Given the description of an element on the screen output the (x, y) to click on. 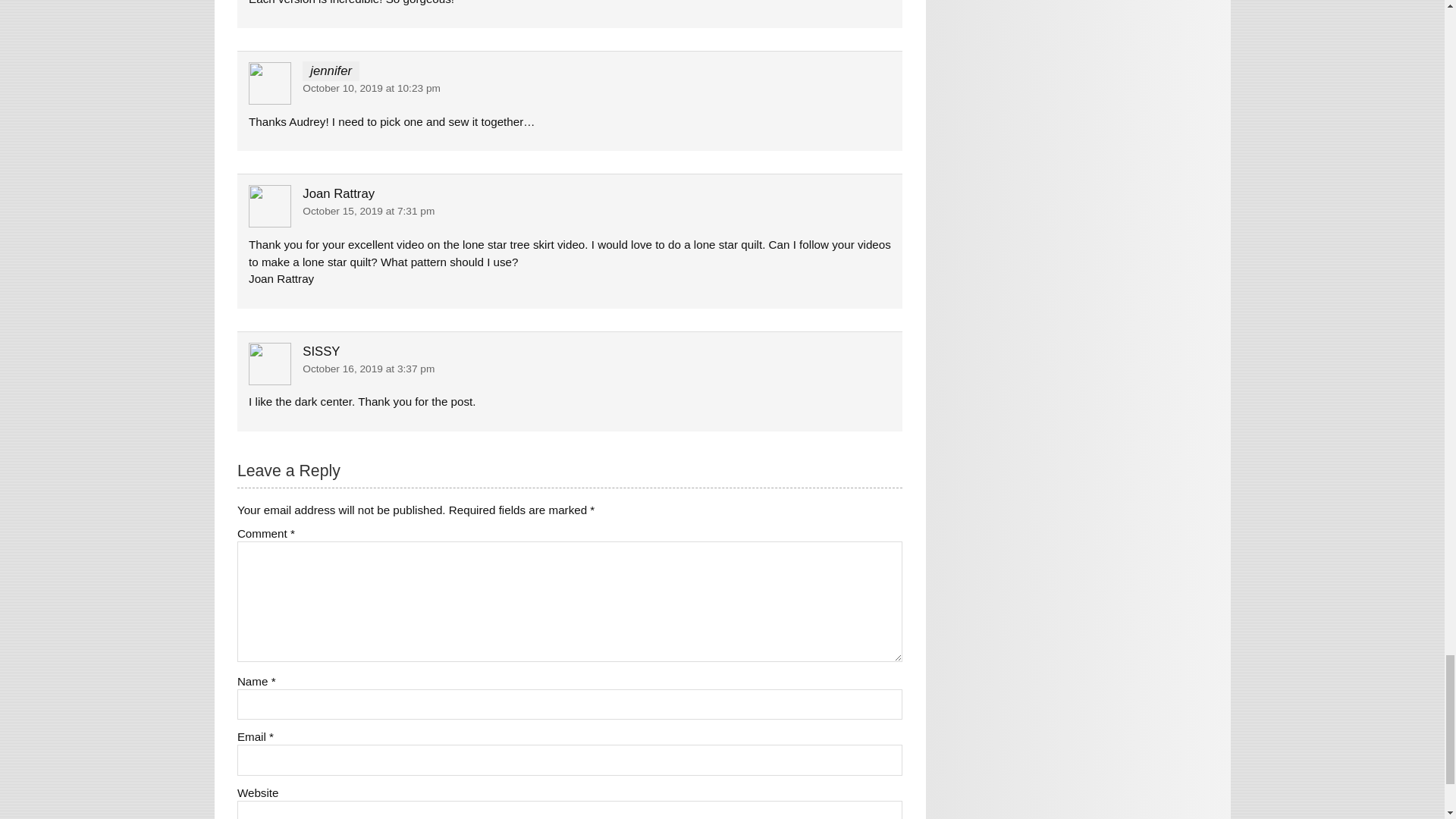
October 10, 2019 at 10:23 pm (371, 88)
October 15, 2019 at 7:31 pm (367, 211)
October 16, 2019 at 3:37 pm (367, 368)
